Given the description of an element on the screen output the (x, y) to click on. 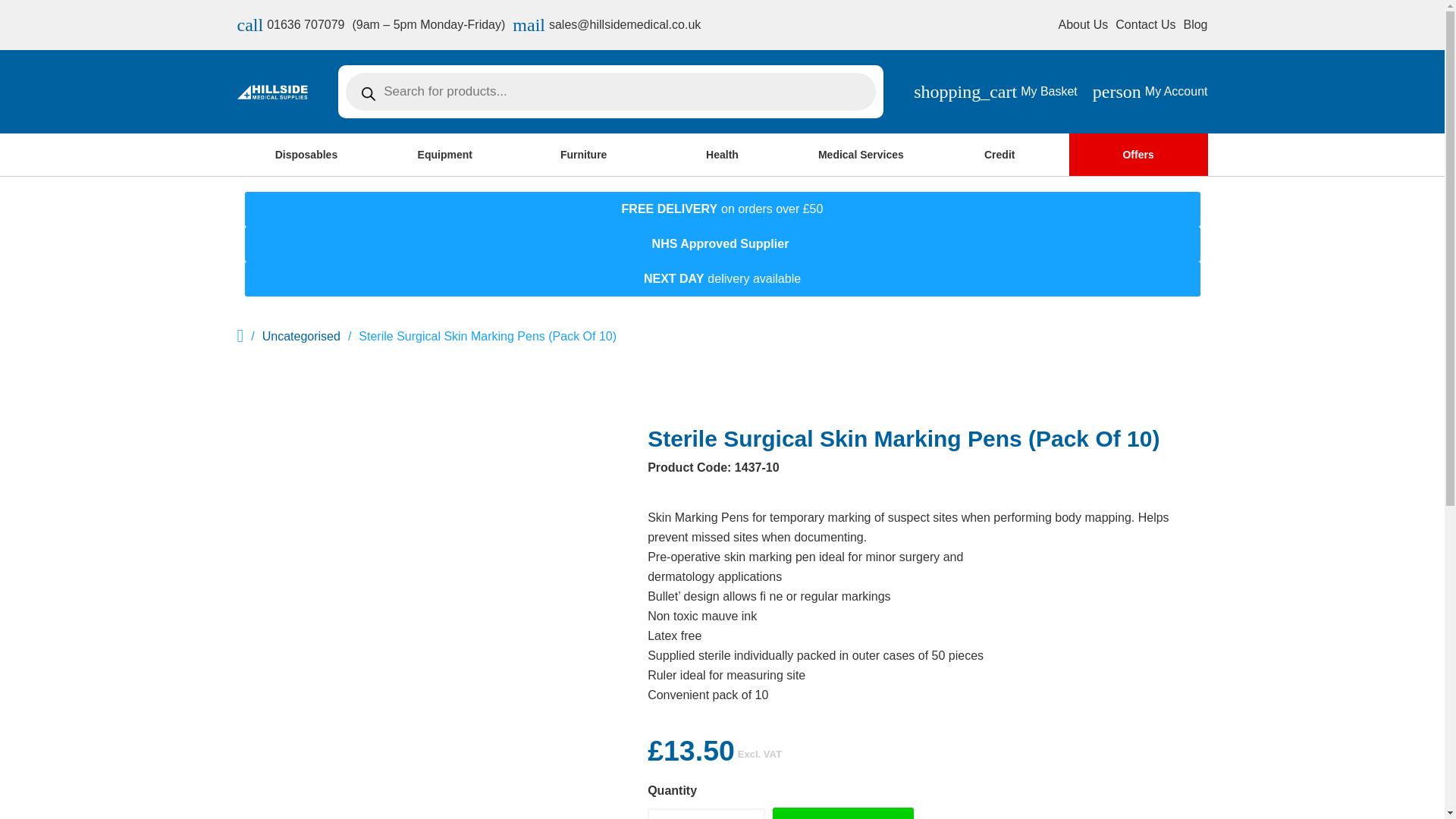
About Us (1083, 24)
Disposables (1150, 91)
Contact Us (305, 154)
Qty (289, 24)
Blog (1144, 24)
